Given the description of an element on the screen output the (x, y) to click on. 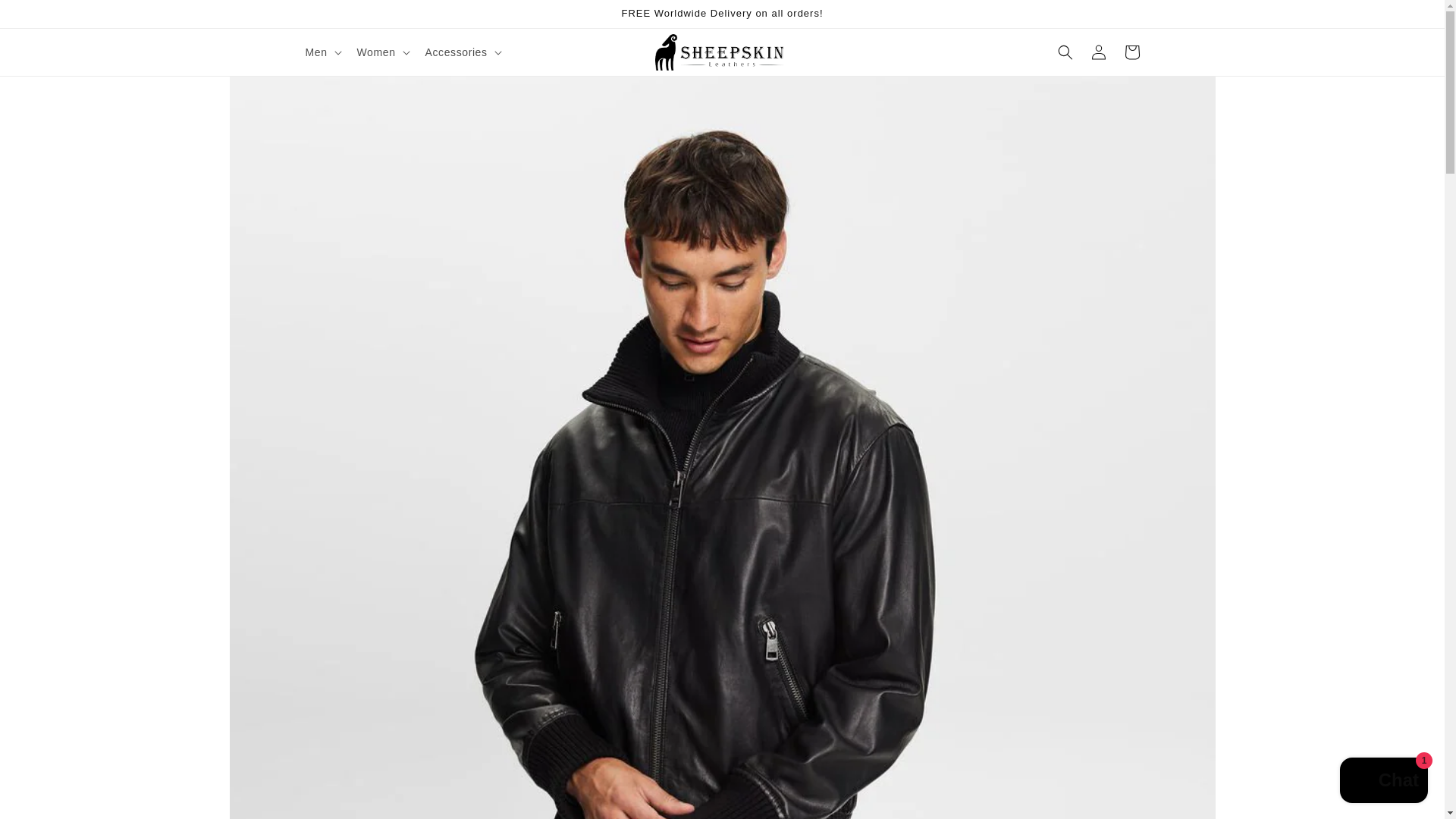
Skip to content (45, 17)
Shopify online store chat (1383, 781)
